Given the description of an element on the screen output the (x, y) to click on. 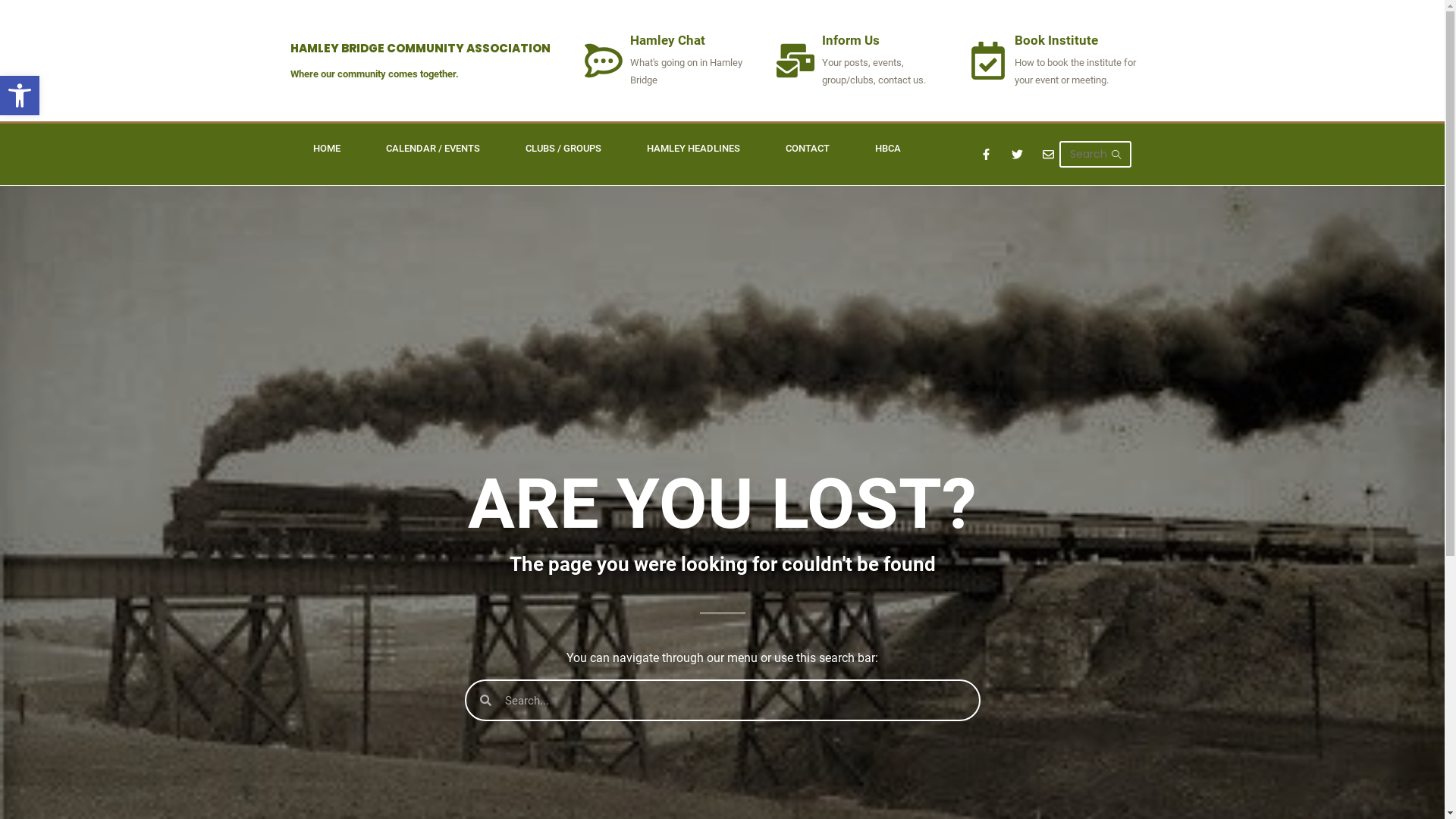
CONTACT Element type: text (807, 148)
Open toolbar
Accessibility Tools Element type: text (19, 95)
HBCA Element type: text (887, 148)
HOME Element type: text (325, 148)
Inform Us Element type: text (850, 39)
Book Institute Element type: text (1056, 39)
Hamley Chat Element type: text (666, 39)
CALENDAR / EVENTS Element type: text (432, 148)
HAMLEY HEADLINES Element type: text (692, 148)
CLUBS / GROUPS Element type: text (562, 148)
